Given the description of an element on the screen output the (x, y) to click on. 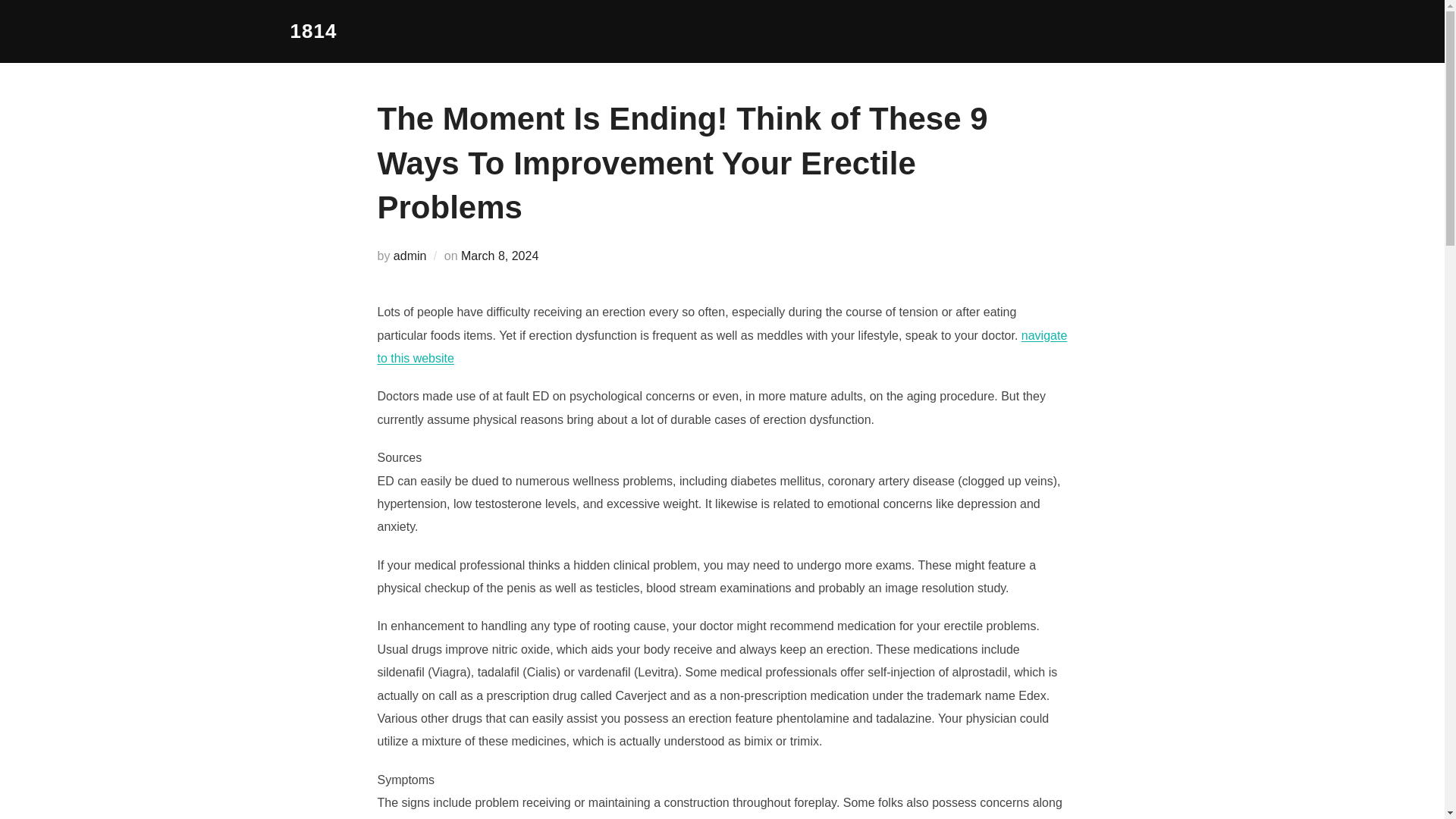
navigate to this website (722, 346)
March 8, 2024 (499, 255)
1814 (312, 31)
the 18th century (312, 31)
admin (409, 255)
